Given the description of an element on the screen output the (x, y) to click on. 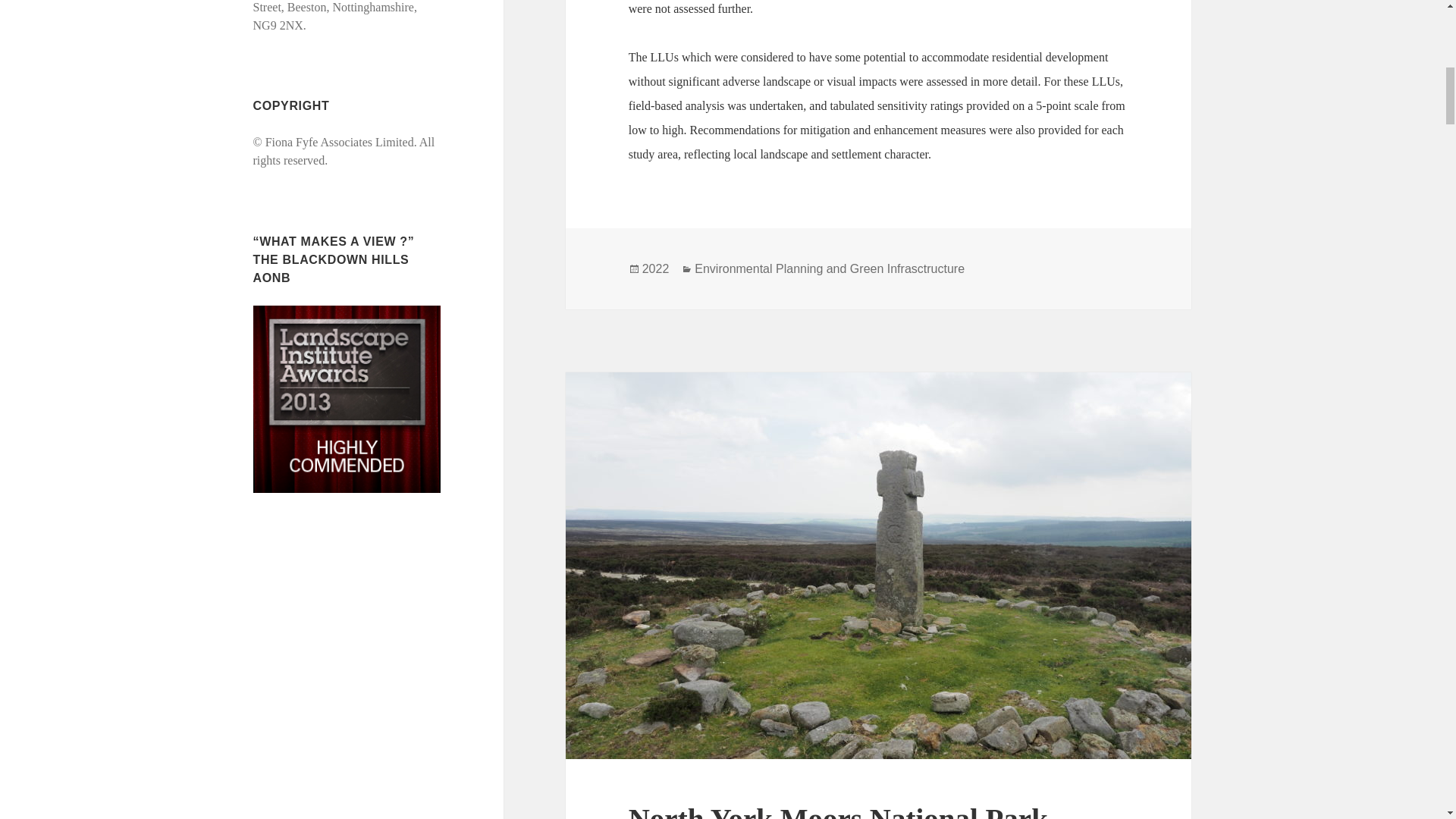
2022 (655, 269)
Environmental Planning and Green Infrasctructure (828, 269)
